Given the description of an element on the screen output the (x, y) to click on. 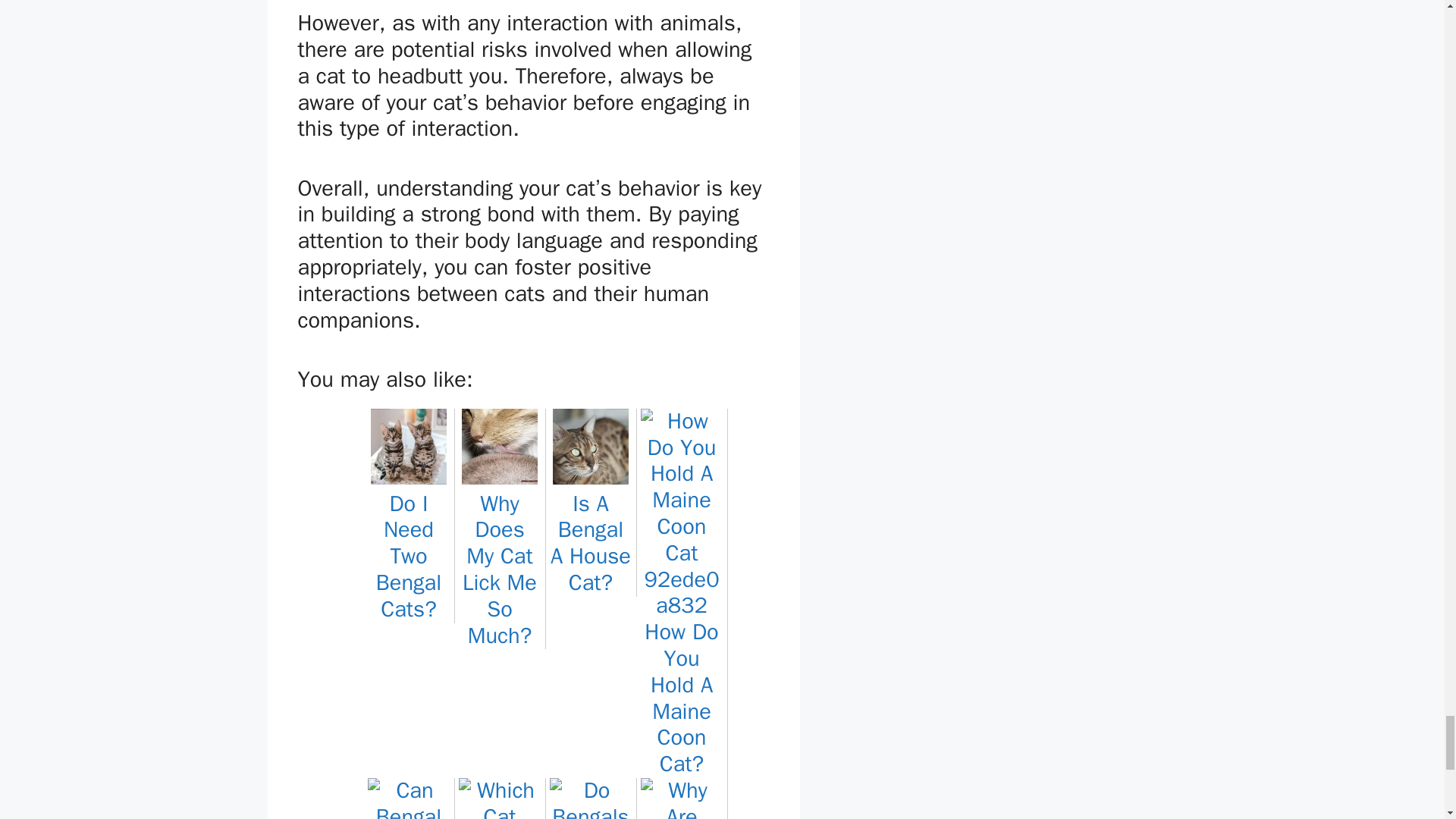
Which Cat Breed Is Best For First Time Owners? 6 (499, 798)
Is A Bengal A House Cat? 3 (590, 446)
Can Bengal Cats Be Indoor Outdoor Cats? 5 (407, 798)
Why Does My Cat Lick Me So Much? 2 (499, 446)
Do I Need Two Bengal Cats? 1 (408, 446)
Do Bengals Not Like To Be Held? 7 (589, 798)
Why Are Bengals High Maintenance? 8 (681, 798)
